Given the description of an element on the screen output the (x, y) to click on. 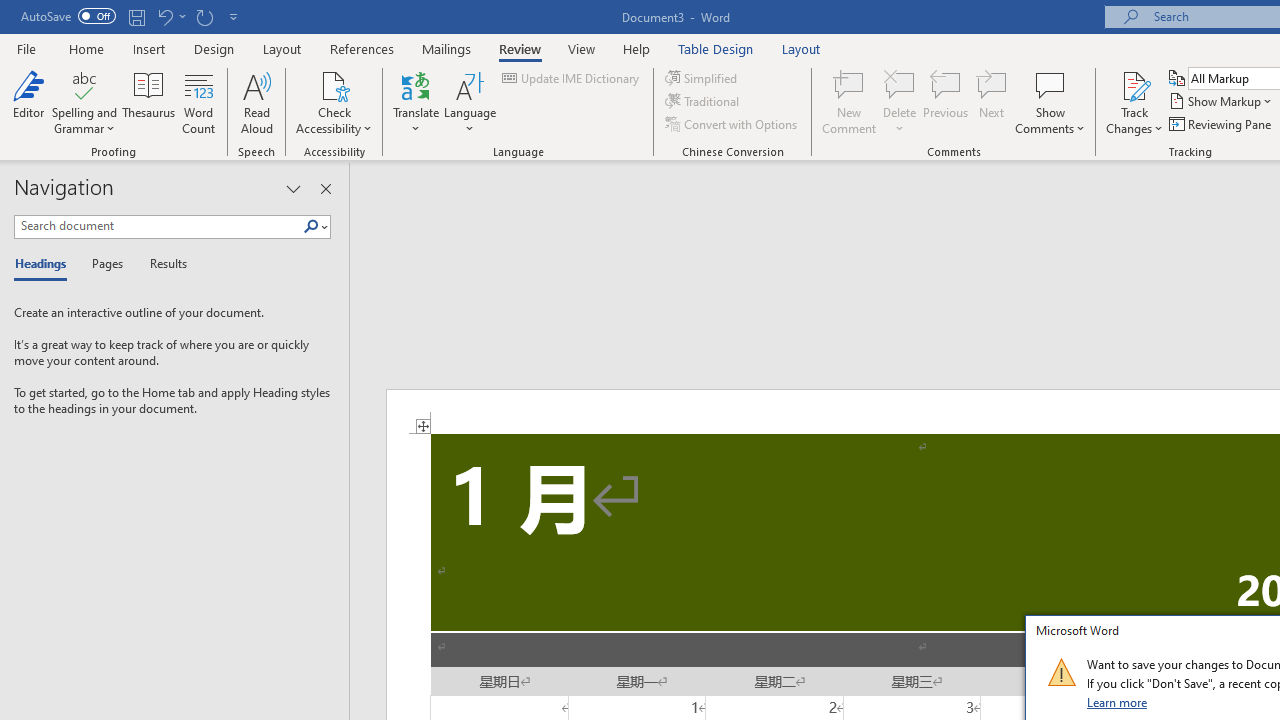
Spelling and Grammar (84, 102)
Simplified (702, 78)
Convert with Options... (732, 124)
